Given the description of an element on the screen output the (x, y) to click on. 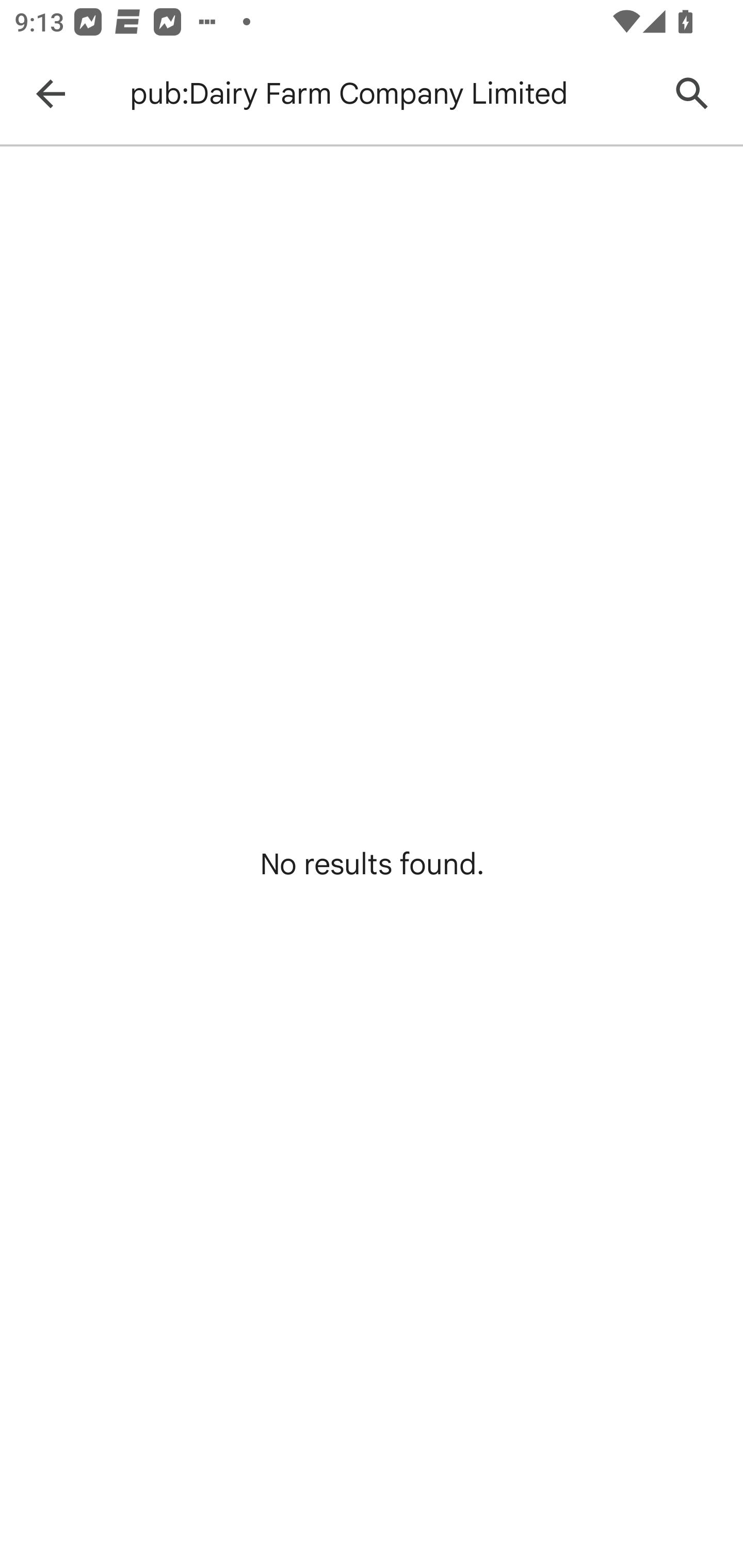
pub:Dairy Farm Company Limited (389, 93)
Navigate up (50, 93)
Search Google Play (692, 93)
